Given the description of an element on the screen output the (x, y) to click on. 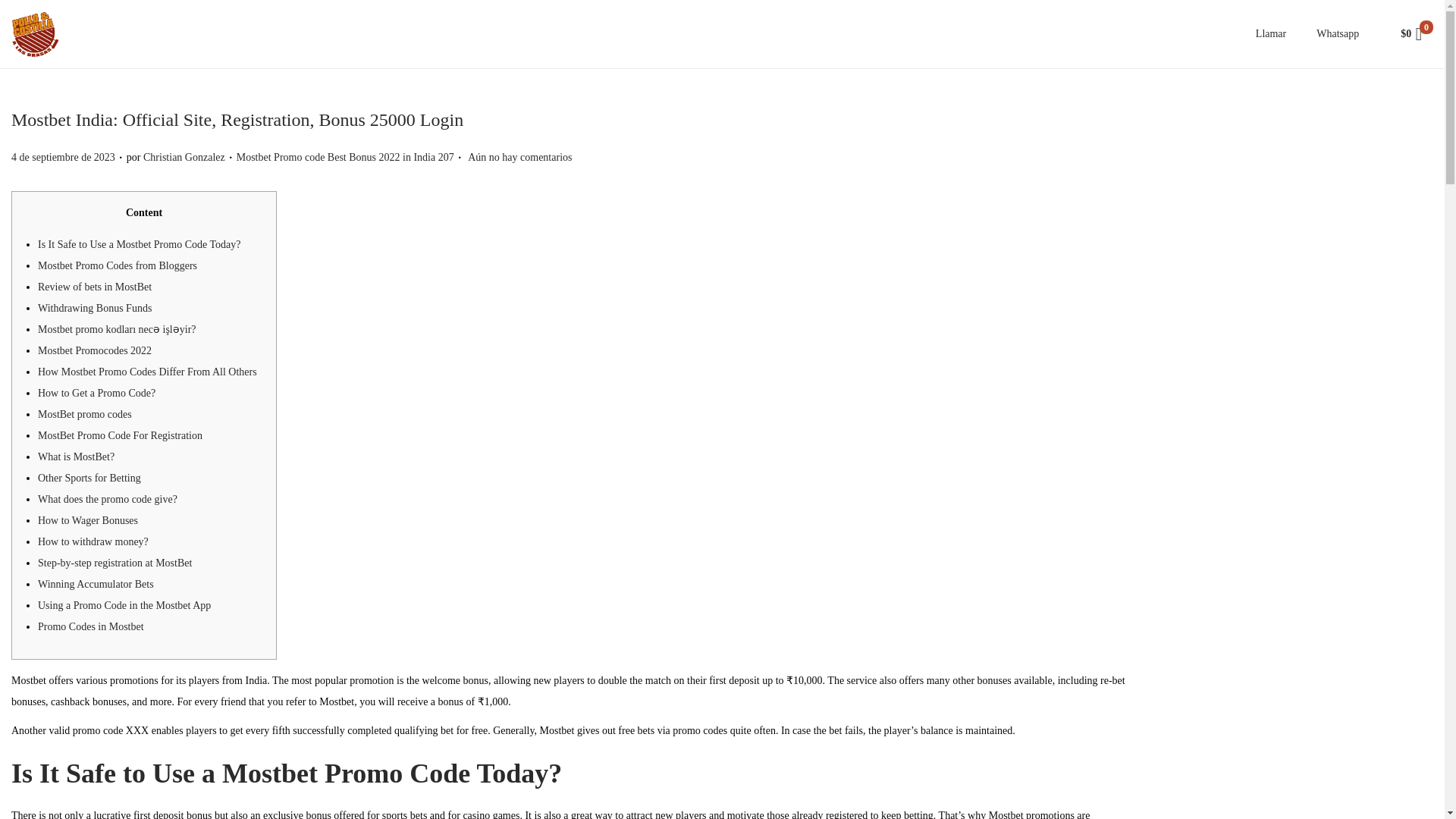
Mostbet Promo Codes from Bloggers (116, 265)
Winning Accumulator Bets (95, 583)
Promo Codes in Mostbet (90, 626)
MostBet promo codes (84, 414)
Withdrawing Bonus Funds (94, 307)
Other Sports for Betting (89, 478)
MostBet Promo Code For Registration (119, 435)
What does the promo code give? (107, 499)
Using a Promo Code in the Mostbet App (124, 604)
Is It Safe to Use a Mostbet Promo Code Today? (138, 244)
4 de septiembre de 2023 (63, 156)
What is MostBet? (76, 456)
How to Get a Promo Code? (96, 392)
Mostbet Promocodes 2022 (94, 350)
